Given the description of an element on the screen output the (x, y) to click on. 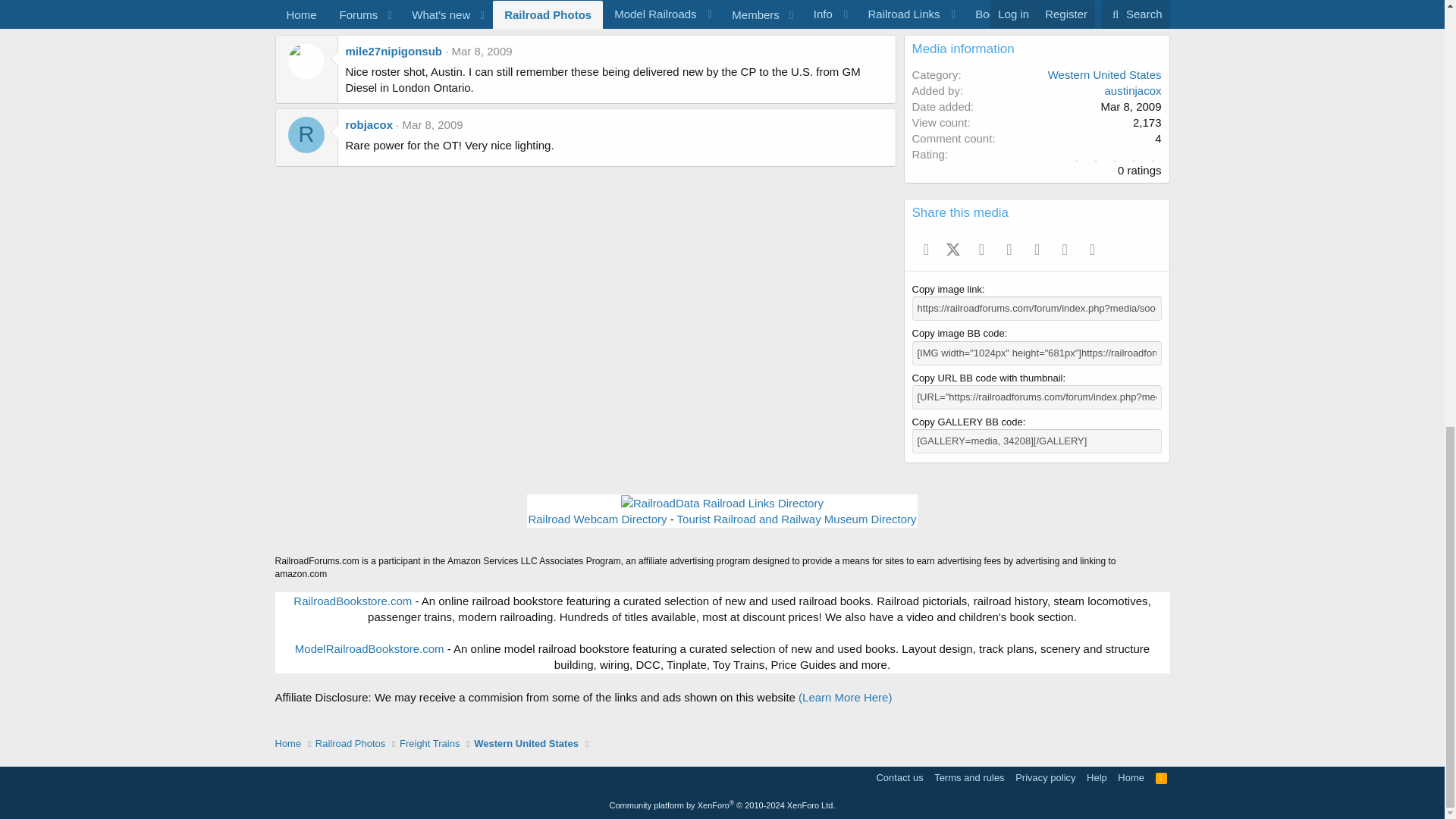
Mar 8, 2009 at 6:38 PM (1130, 106)
RSS (1161, 777)
Mar 8, 2009 at 9:46 PM (433, 124)
Mar 8, 2009 at 8:11 PM (481, 51)
